Given the description of an element on the screen output the (x, y) to click on. 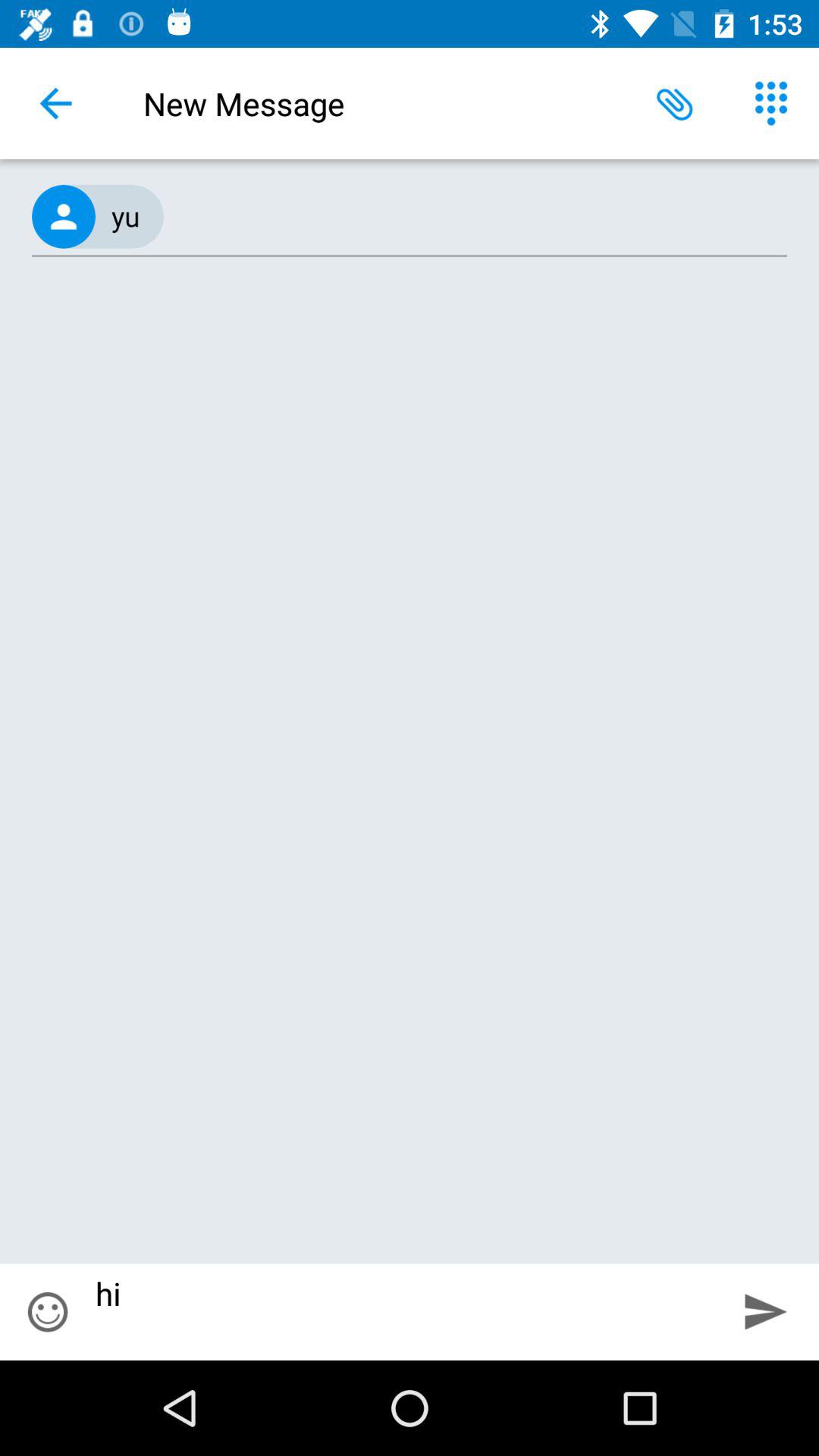
smile image (47, 1311)
